Given the description of an element on the screen output the (x, y) to click on. 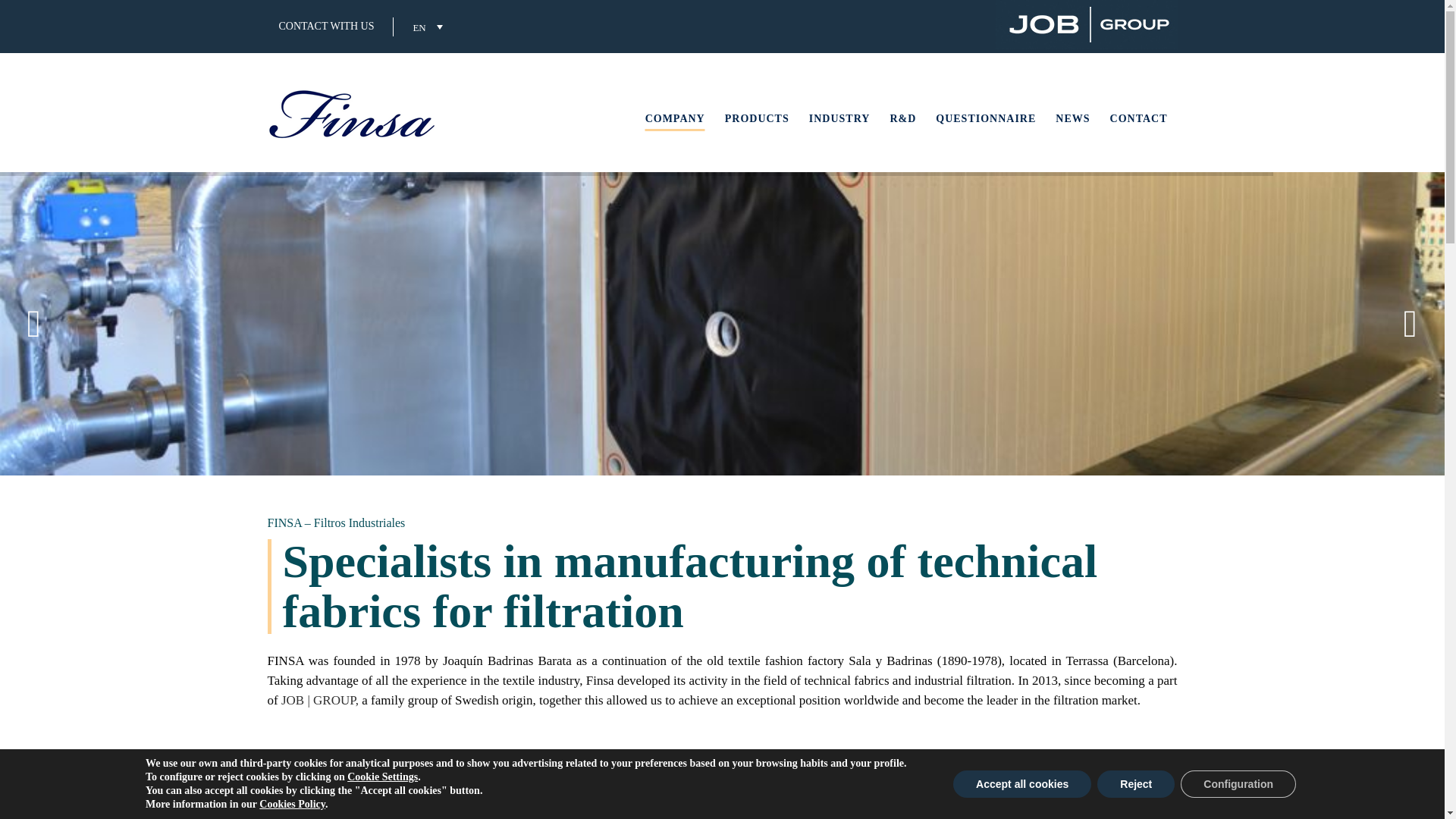
CONTACT (1138, 119)
QUESTIONNAIRE (985, 119)
EN (426, 26)
CONTACT WITH US (320, 26)
COMPANY (674, 119)
INDUSTRY (839, 119)
PRODUCTS (756, 119)
